Given the description of an element on the screen output the (x, y) to click on. 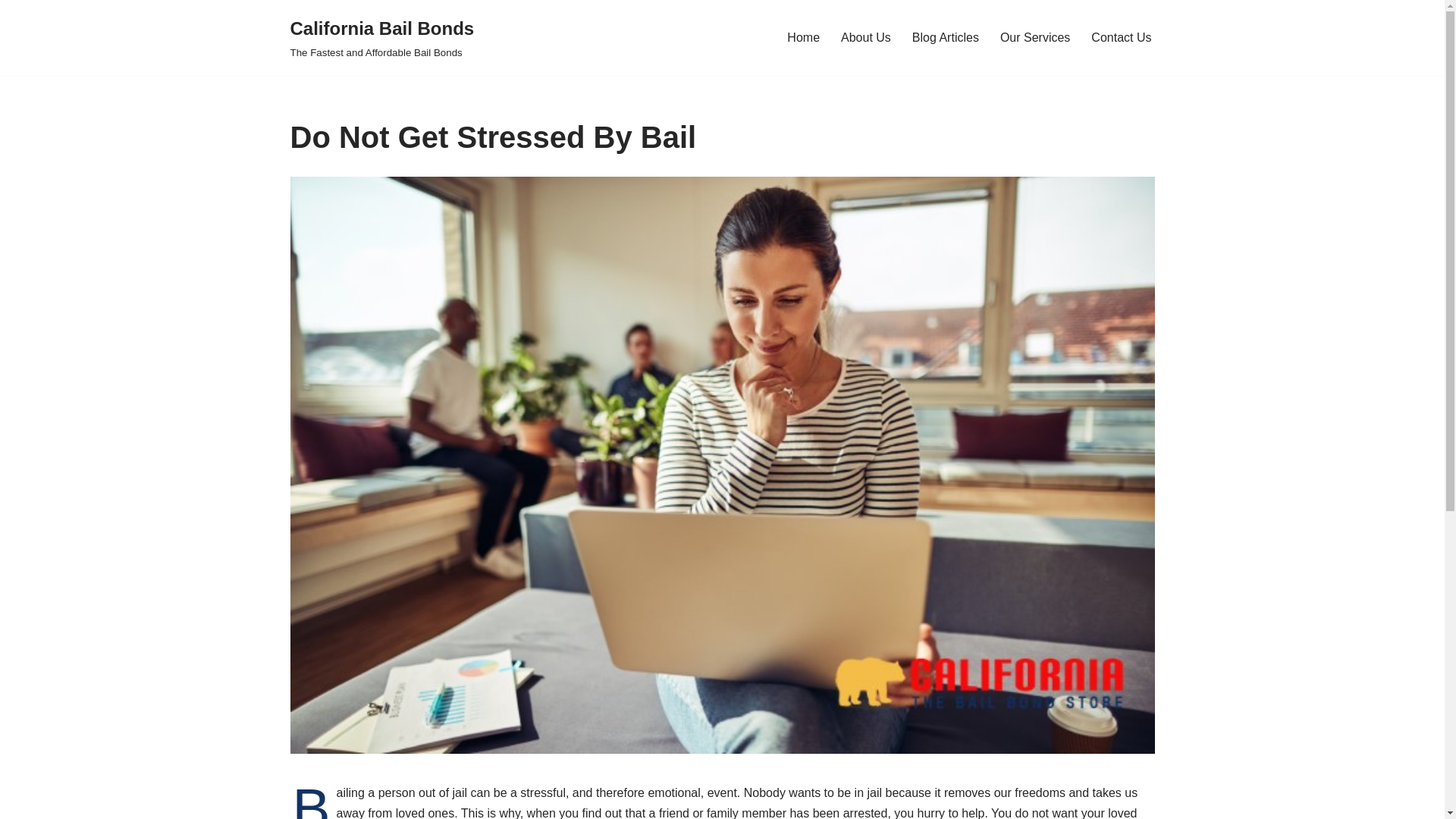
About Us (866, 37)
Blog Articles (945, 37)
Skip to content (11, 31)
Home (803, 37)
Contact Us (1120, 37)
Our Services (1035, 37)
